Given the description of an element on the screen output the (x, y) to click on. 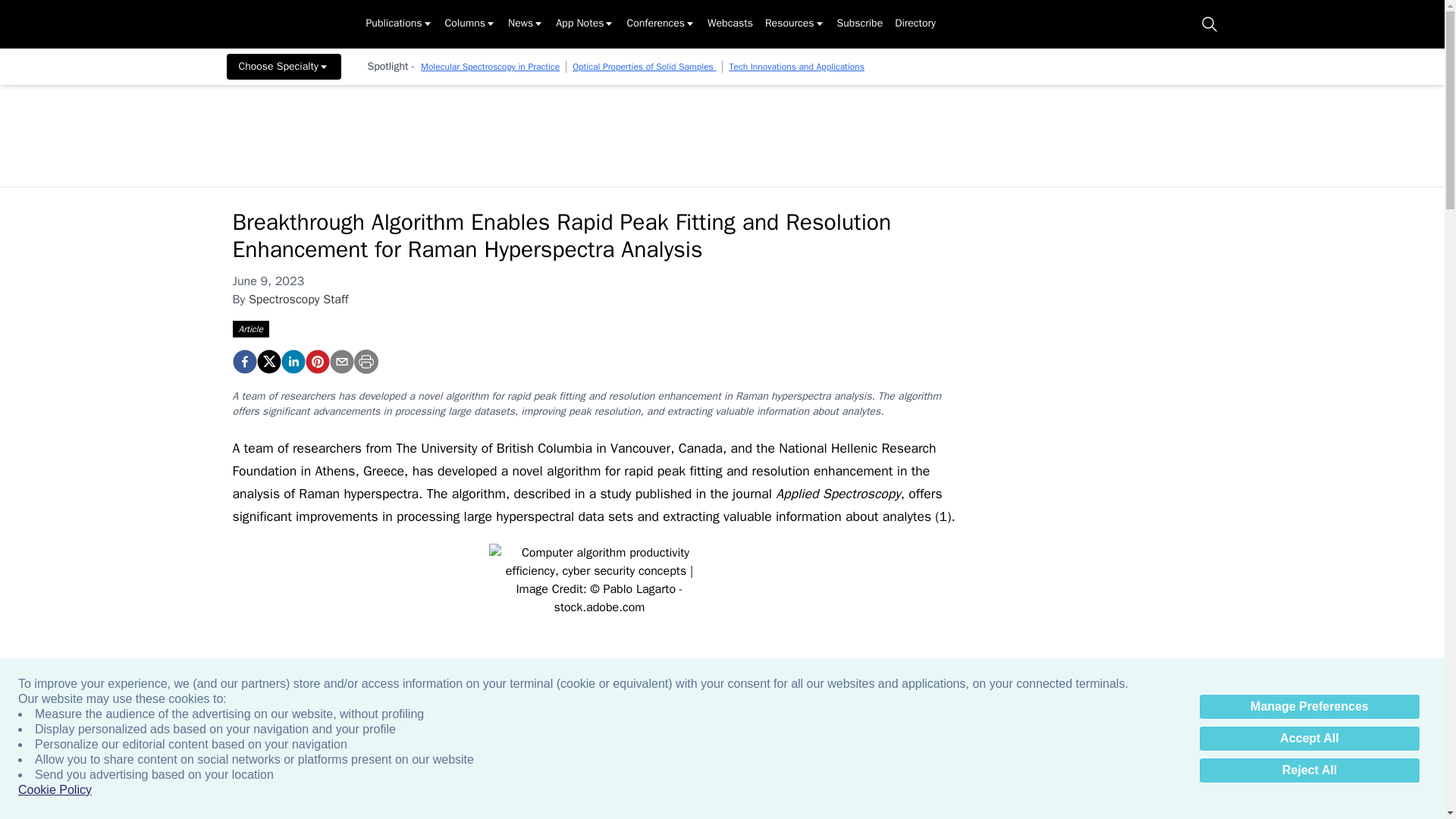
Accept All (1309, 738)
Reject All (1309, 769)
App Notes (585, 23)
News (525, 23)
Manage Preferences (1309, 706)
Conferences (660, 23)
Columns (470, 23)
Cookie Policy (54, 789)
